Given the description of an element on the screen output the (x, y) to click on. 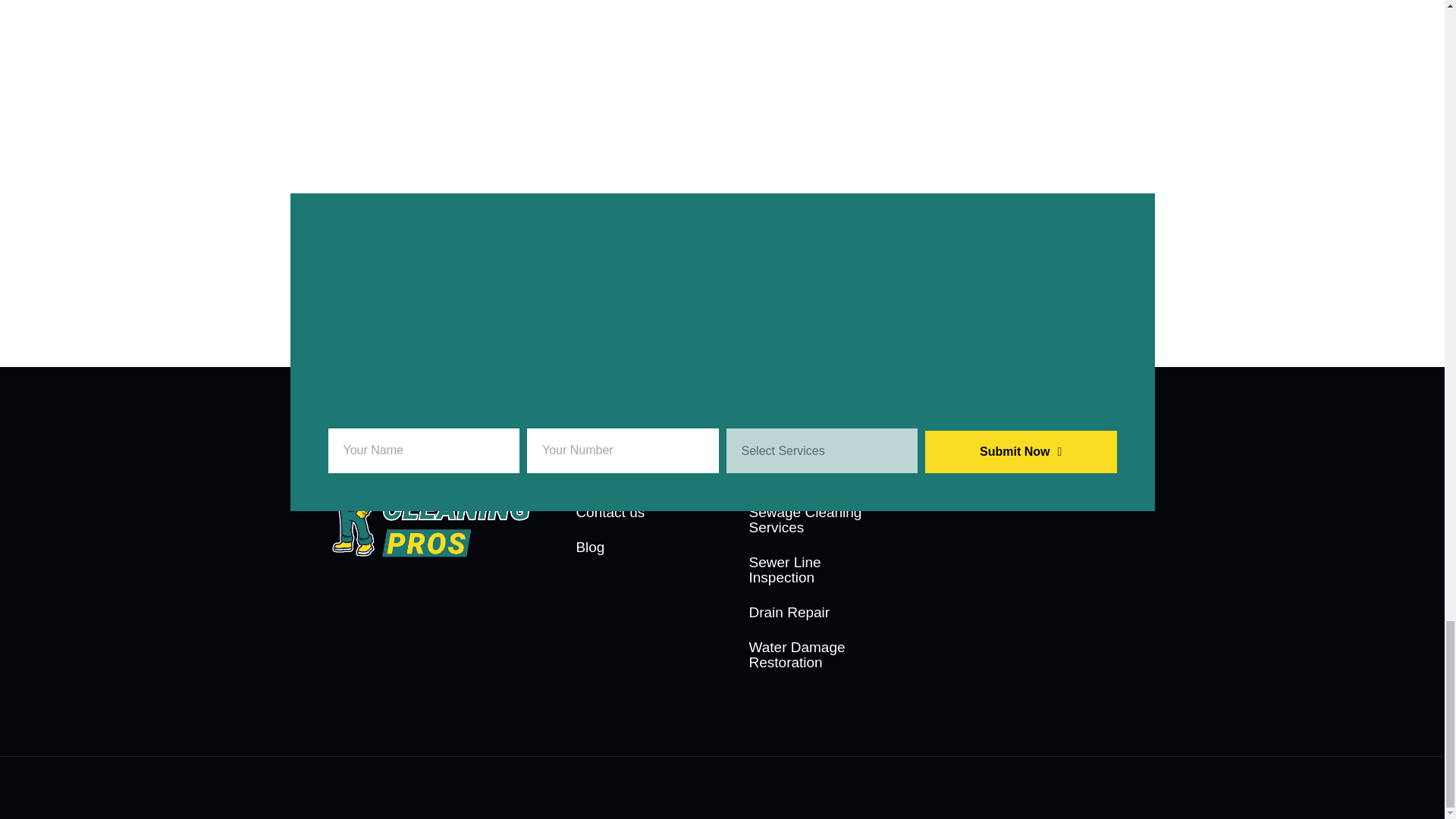
Blog (635, 547)
Contact us (635, 512)
Submit Now (1020, 451)
